Given the description of an element on the screen output the (x, y) to click on. 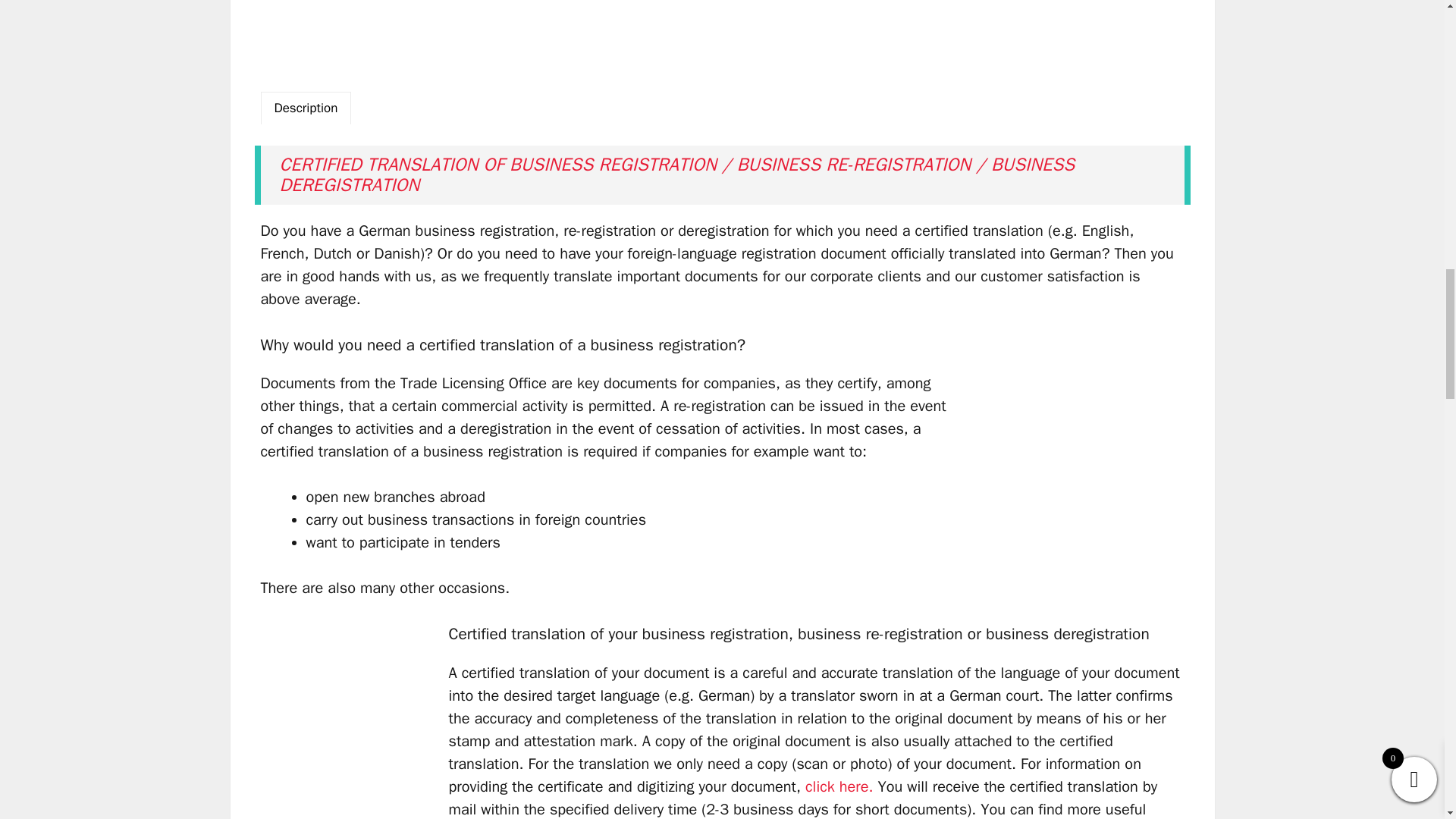
certified translation (1070, 439)
certified official translation fast cheap notarial (354, 720)
